Given the description of an element on the screen output the (x, y) to click on. 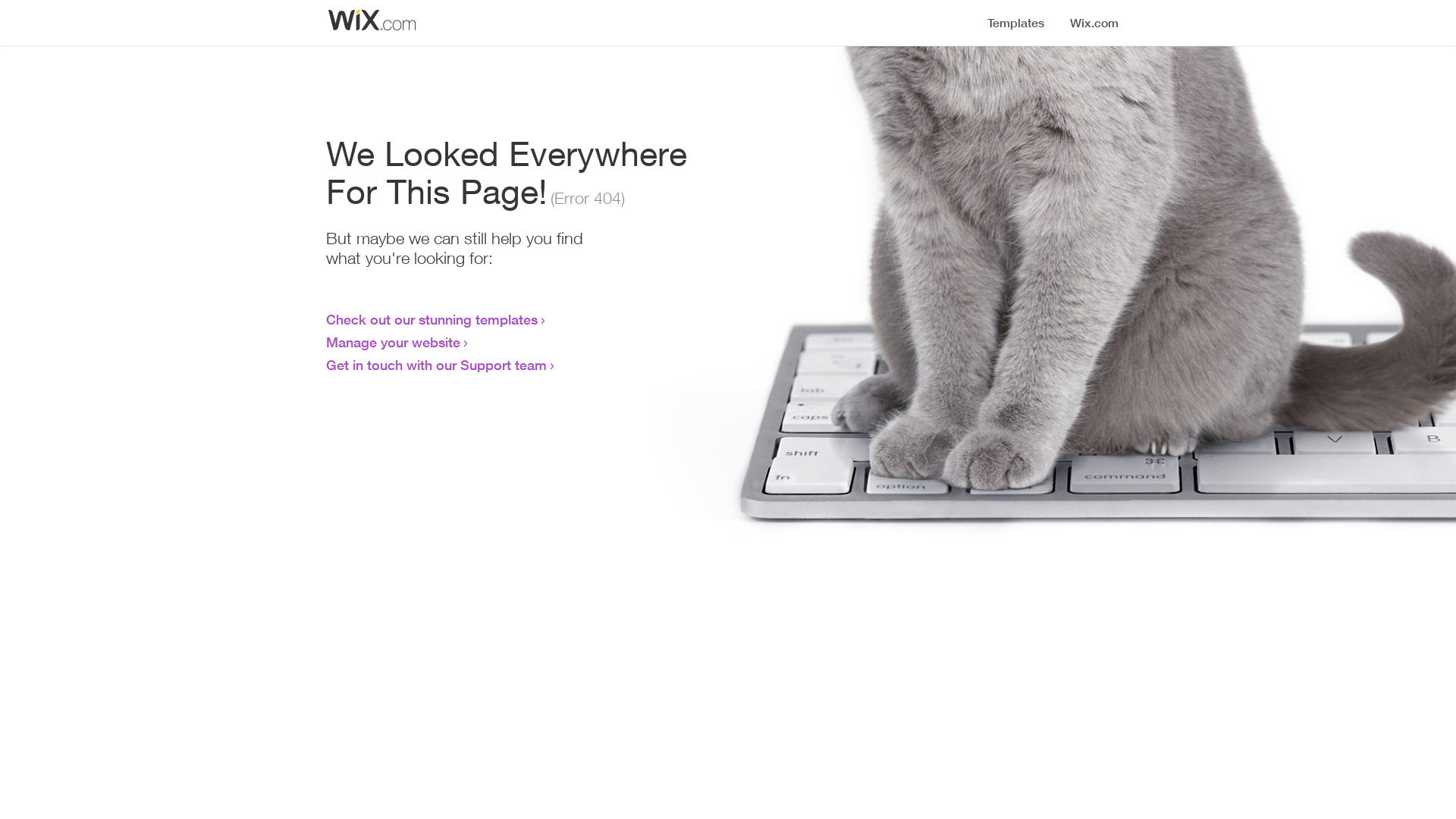
Get in touch with our Support team Element type: text (436, 364)
Check out our stunning templates Element type: text (431, 318)
Manage your website Element type: text (393, 341)
